Given the description of an element on the screen output the (x, y) to click on. 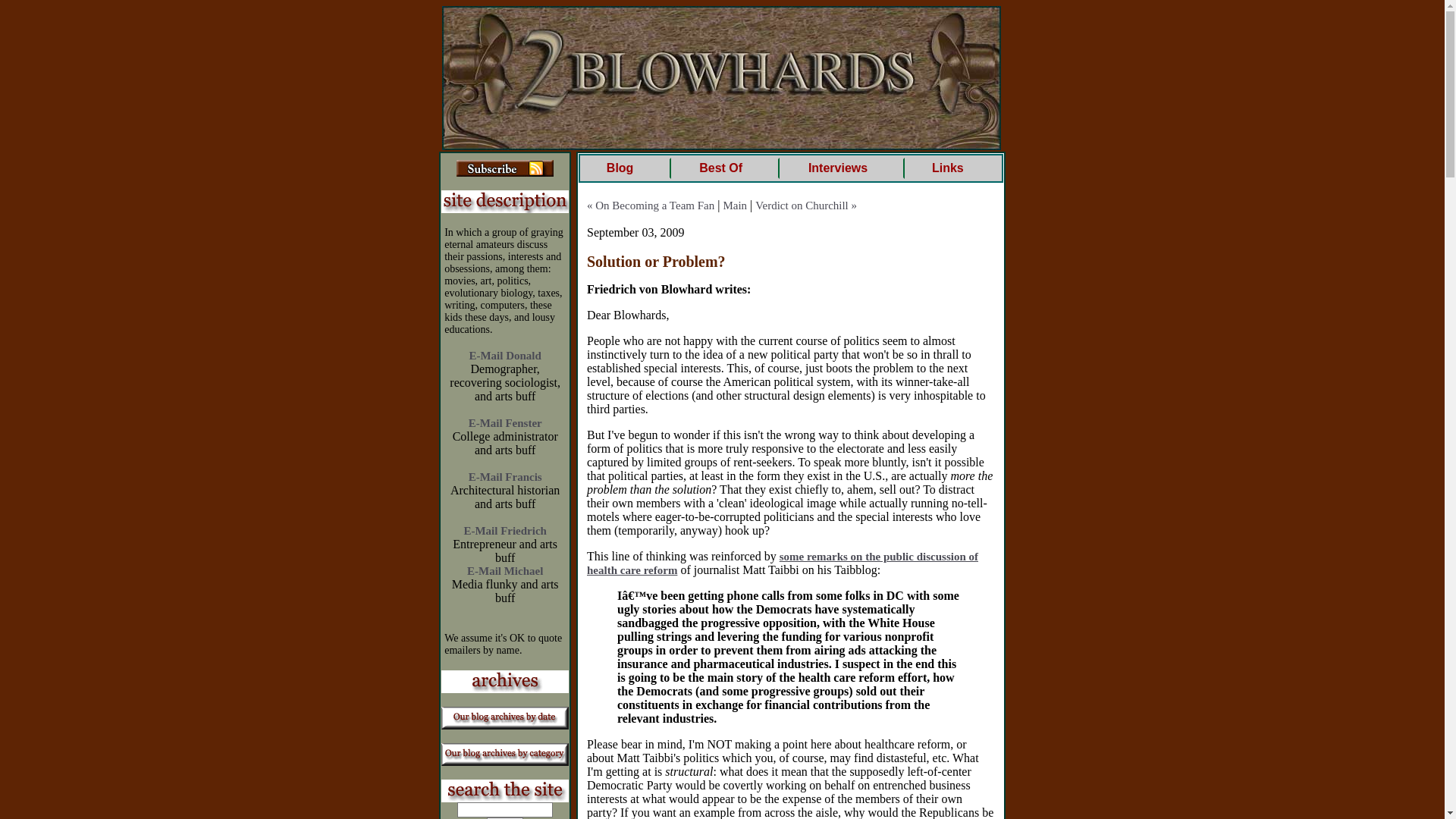
some remarks on the public discussion of health care reform Element type: text (782, 563)
E-Mail Francis Element type: text (505, 476)
E-Mail Fenster Element type: text (505, 423)
Main Element type: text (734, 205)
E-Mail Friedrich Element type: text (504, 530)
E-Mail Donald Element type: text (504, 355)
E-Mail Michael Element type: text (504, 570)
